Given the description of an element on the screen output the (x, y) to click on. 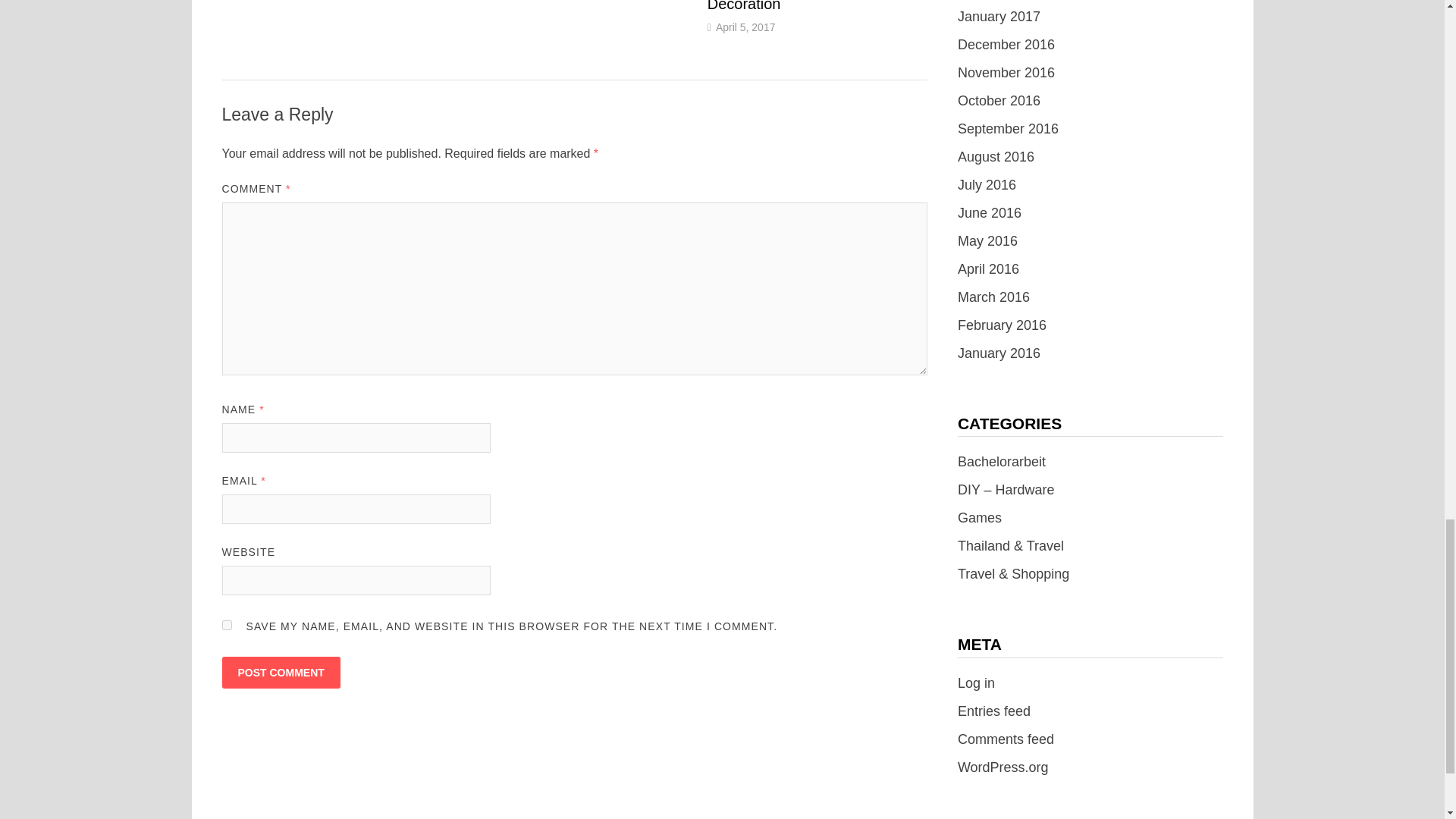
Post Comment (280, 672)
April 5, 2017 (746, 27)
Post Comment (280, 672)
yes (226, 624)
